Given the description of an element on the screen output the (x, y) to click on. 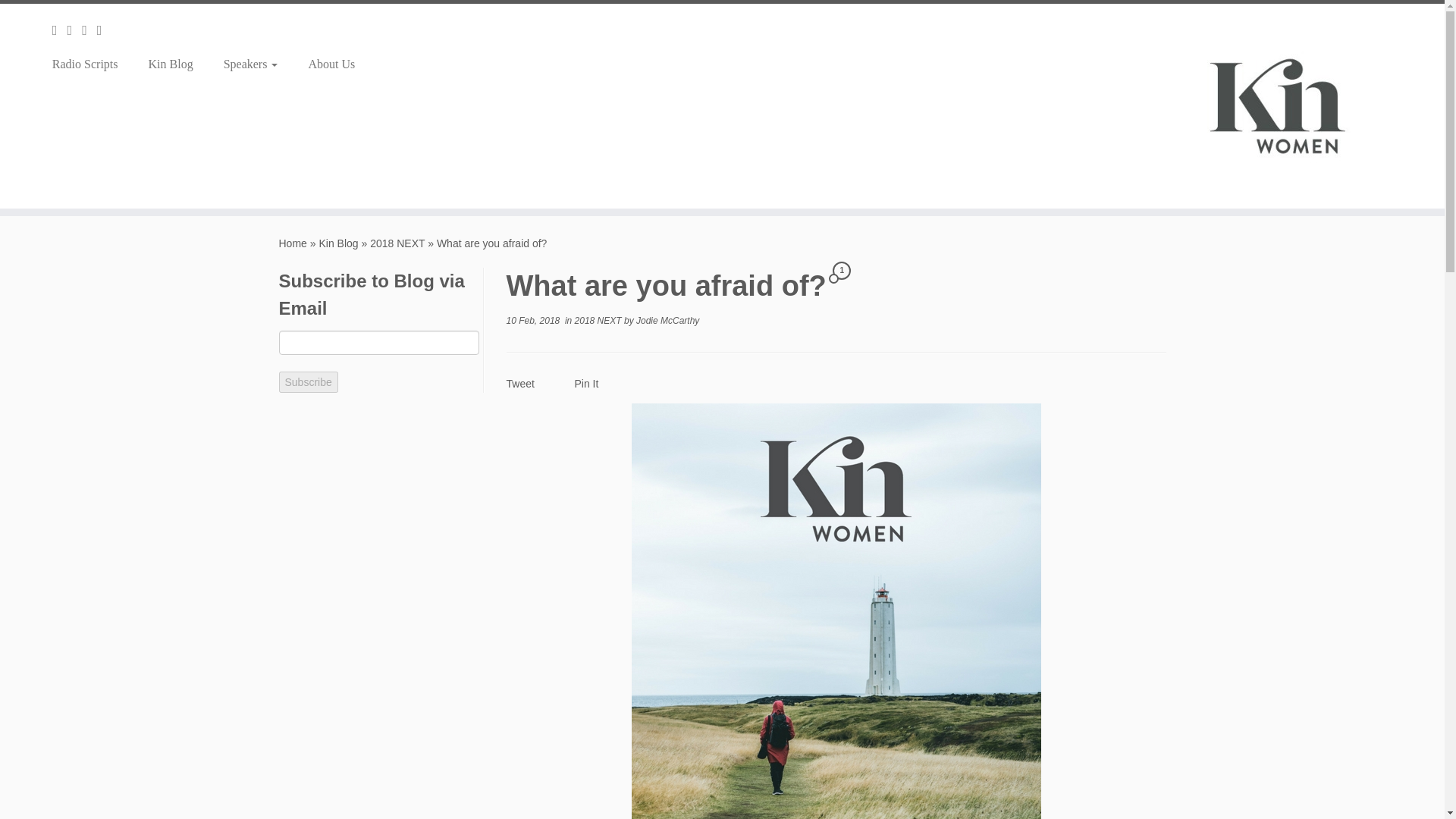
Speakers (251, 64)
Subscribe to my rss feed (59, 29)
Jodie McCarthy (667, 320)
Pin It (586, 383)
View all posts in 2018 NEXT (599, 320)
2018 NEXT (397, 243)
Kin Blog (338, 243)
Radio Scripts (90, 64)
2018 NEXT (599, 320)
4:21 pm (533, 320)
Tweet (520, 383)
Kin Blog (338, 243)
Kin Blog (170, 64)
10 Feb, 2018 (533, 320)
View all posts by Jodie McCarthy (667, 320)
